Given the description of an element on the screen output the (x, y) to click on. 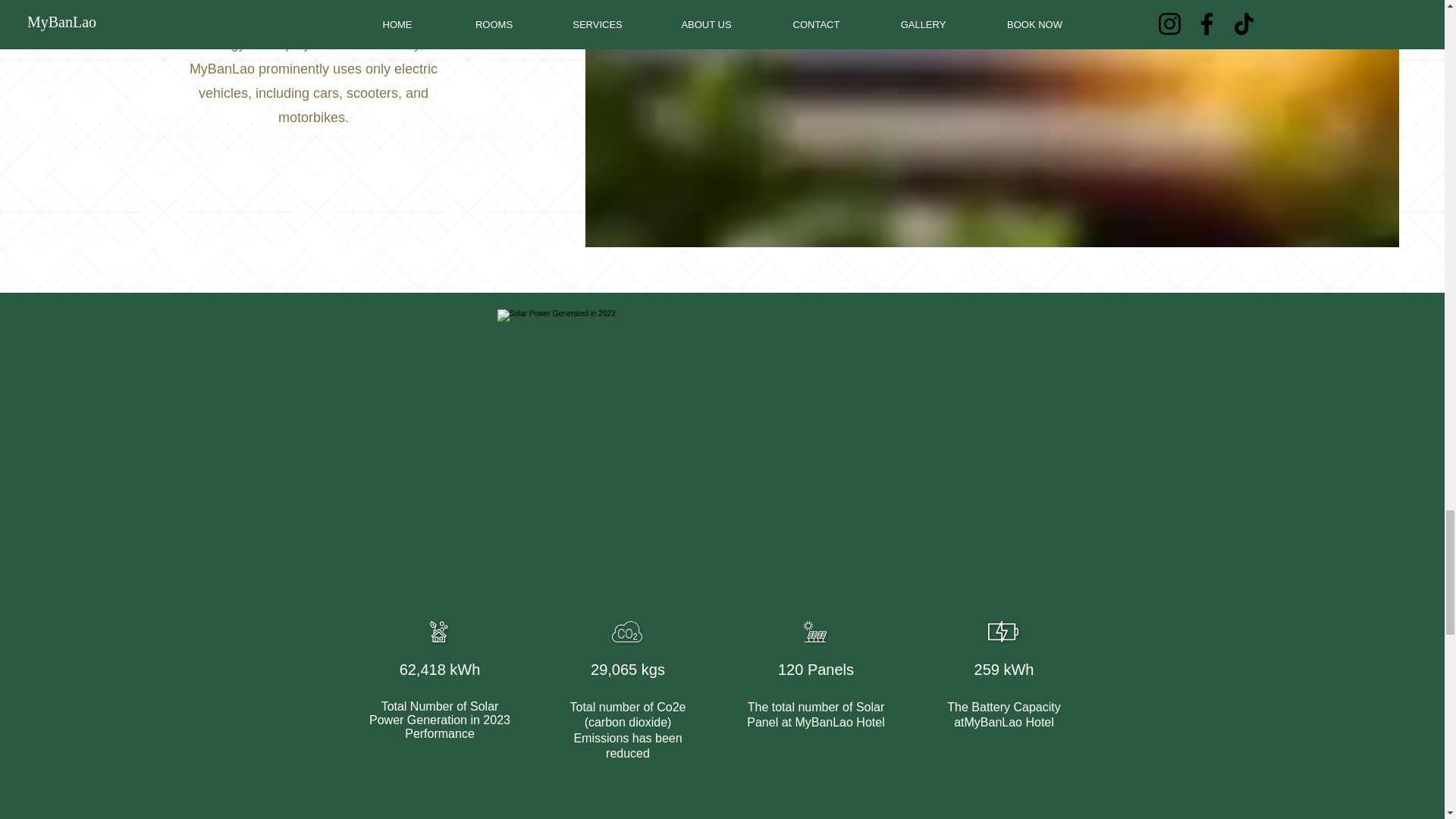
Solar Power Generated in 2023 (724, 446)
